Given the description of an element on the screen output the (x, y) to click on. 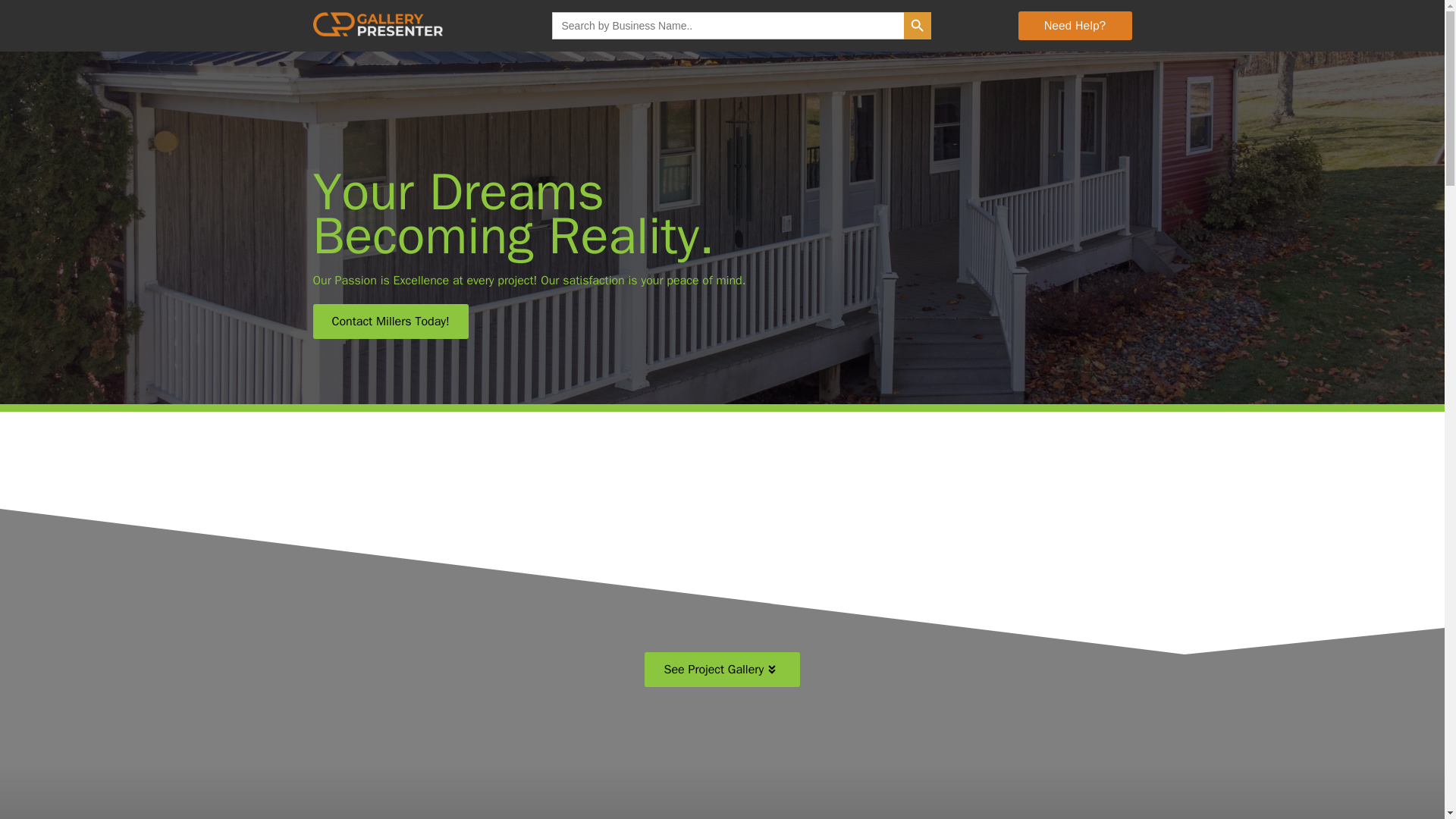
See Project Gallery (722, 669)
Need Help? (1074, 25)
Contact Millers Today! (390, 321)
Search Button (917, 25)
